Given the description of an element on the screen output the (x, y) to click on. 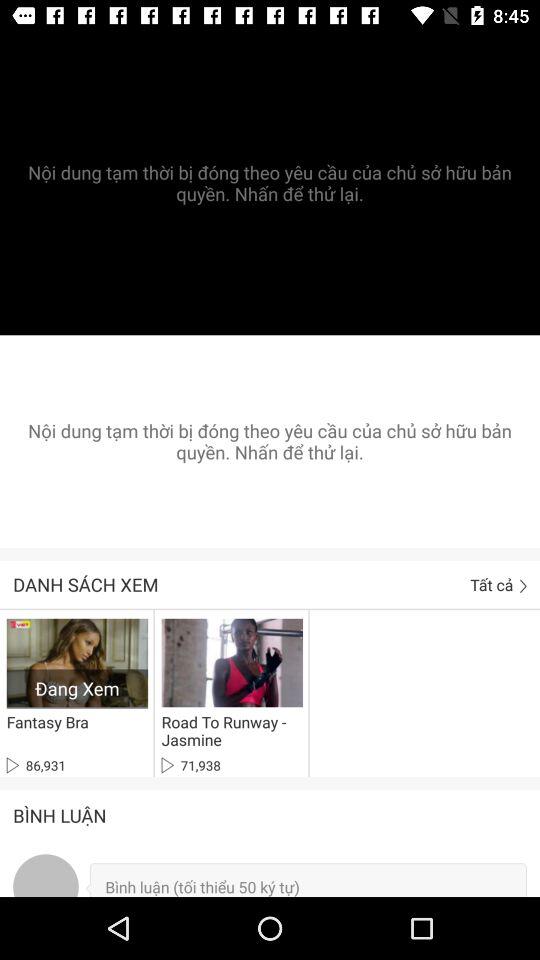
turn on the road to runway (228, 731)
